Given the description of an element on the screen output the (x, y) to click on. 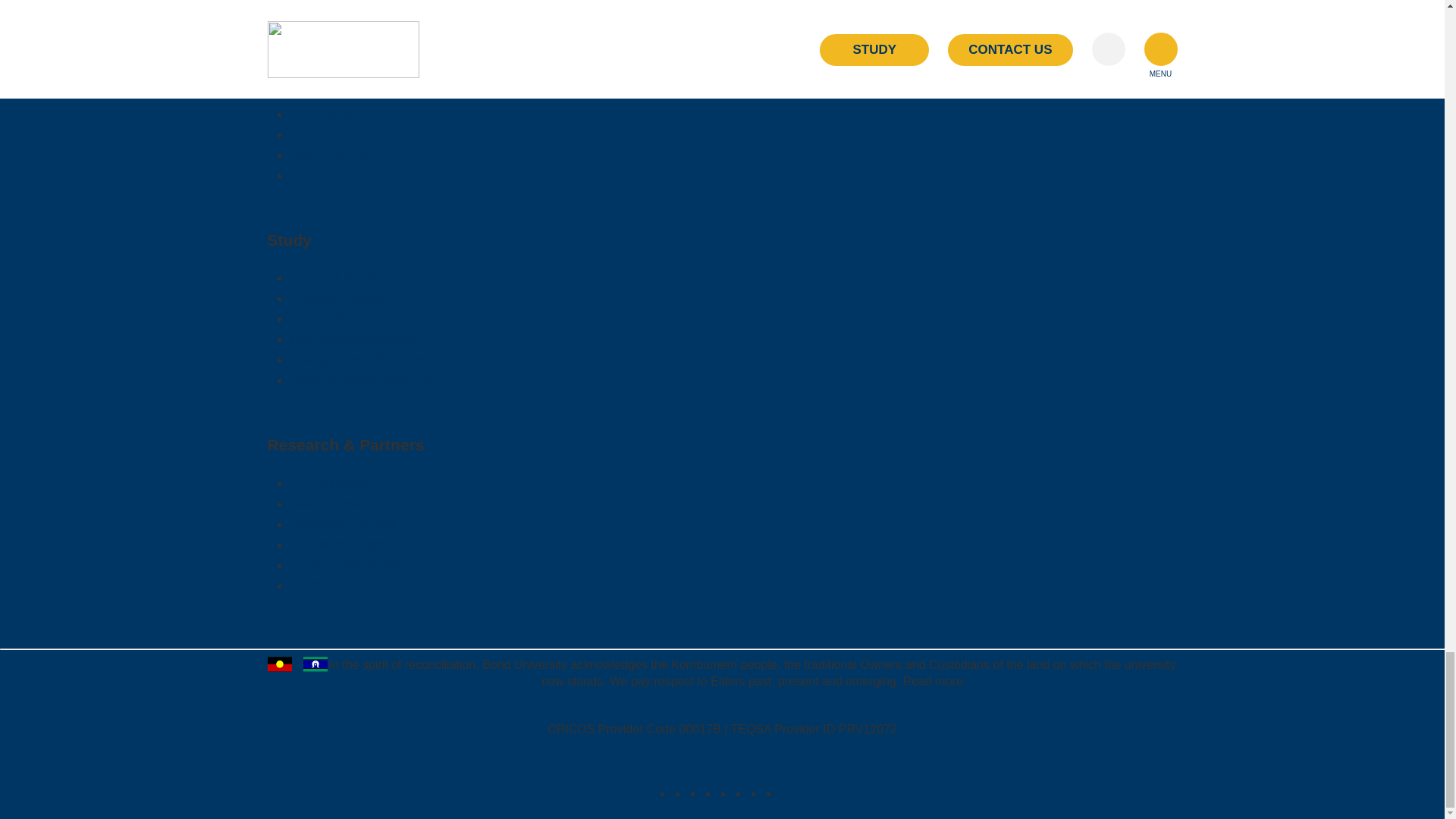
Visit Bond University on Twitter (756, 793)
Visit Bond University on LinkedIn (695, 793)
Library (310, 133)
Current students (339, 72)
Staff Intranet (328, 154)
Visit Bond University on WeChat (771, 793)
Visit Bond University on Facebook (680, 793)
Visit Bond University on TikTok (726, 793)
Campus map (330, 92)
Bond Sport (323, 113)
